Given the description of an element on the screen output the (x, y) to click on. 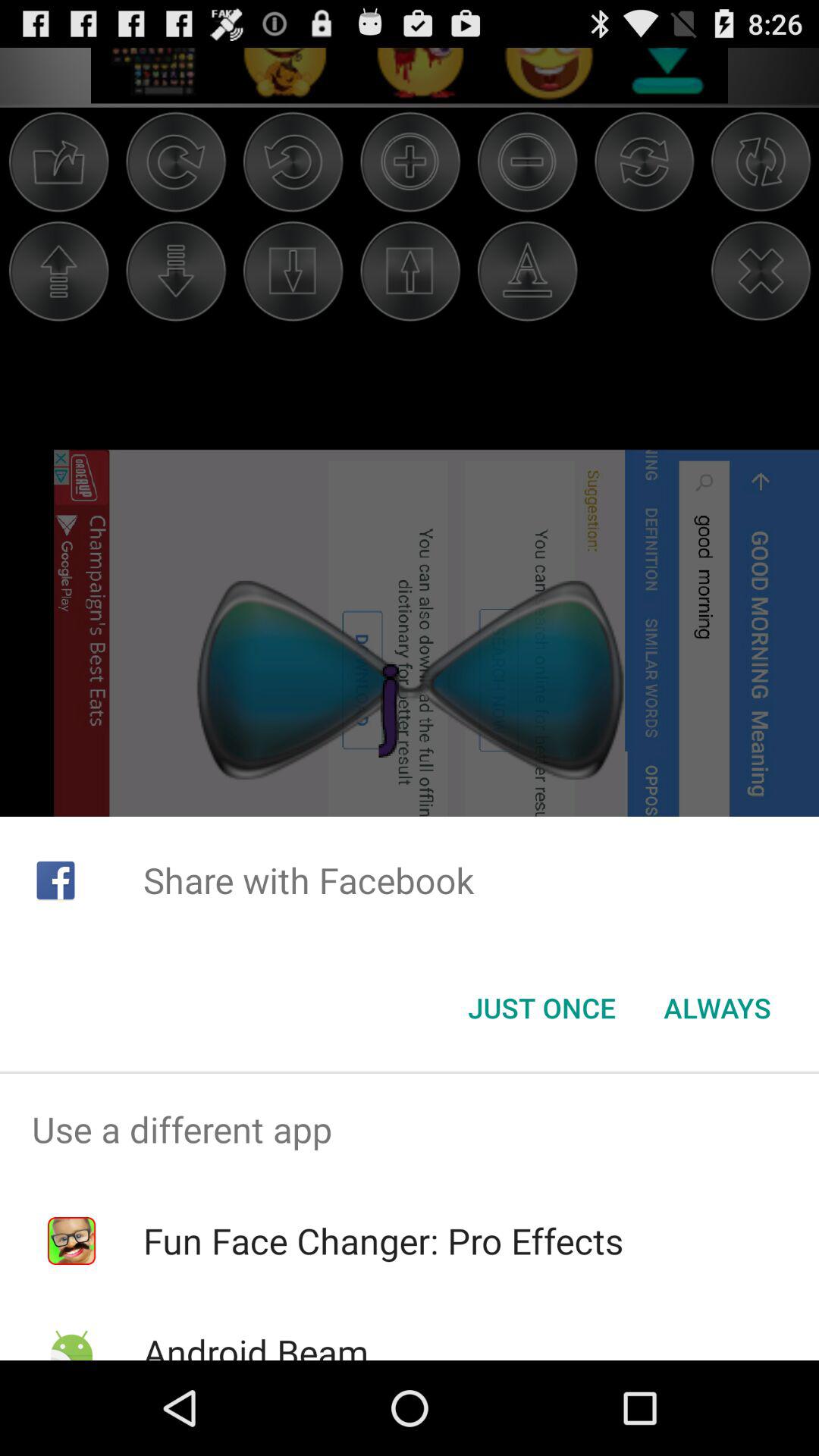
turn on the app above the android beam (383, 1240)
